Given the description of an element on the screen output the (x, y) to click on. 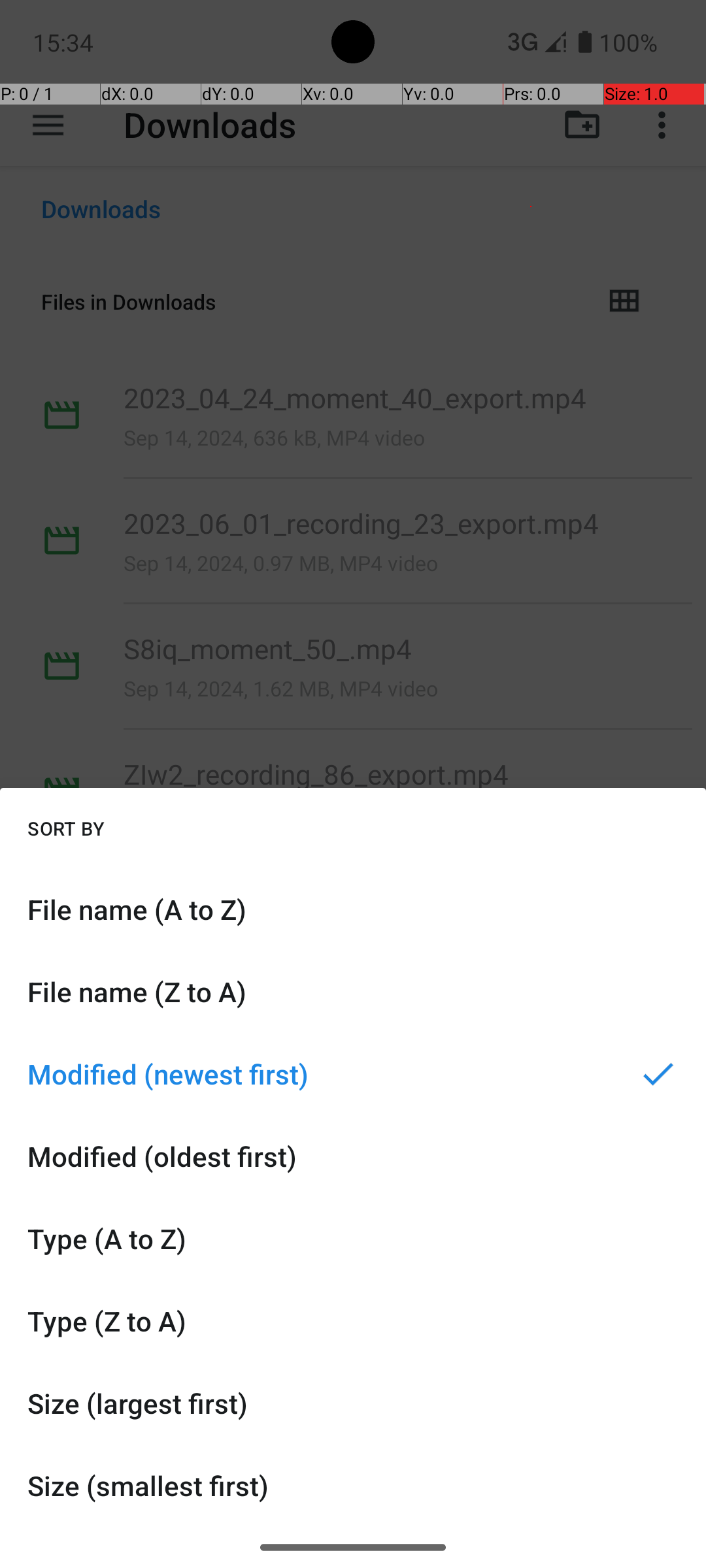
SORT BY Element type: android.widget.TextView (66, 827)
File name (A to Z) Element type: android.widget.CheckedTextView (353, 909)
File name (Z to A) Element type: android.widget.CheckedTextView (353, 991)
Modified (newest first) Element type: android.widget.CheckedTextView (353, 1073)
Modified (oldest first) Element type: android.widget.CheckedTextView (353, 1156)
Type (A to Z) Element type: android.widget.CheckedTextView (353, 1238)
Type (Z to A) Element type: android.widget.CheckedTextView (353, 1320)
Size (largest first) Element type: android.widget.CheckedTextView (353, 1403)
Size (smallest first) Element type: android.widget.CheckedTextView (353, 1485)
